Given the description of an element on the screen output the (x, y) to click on. 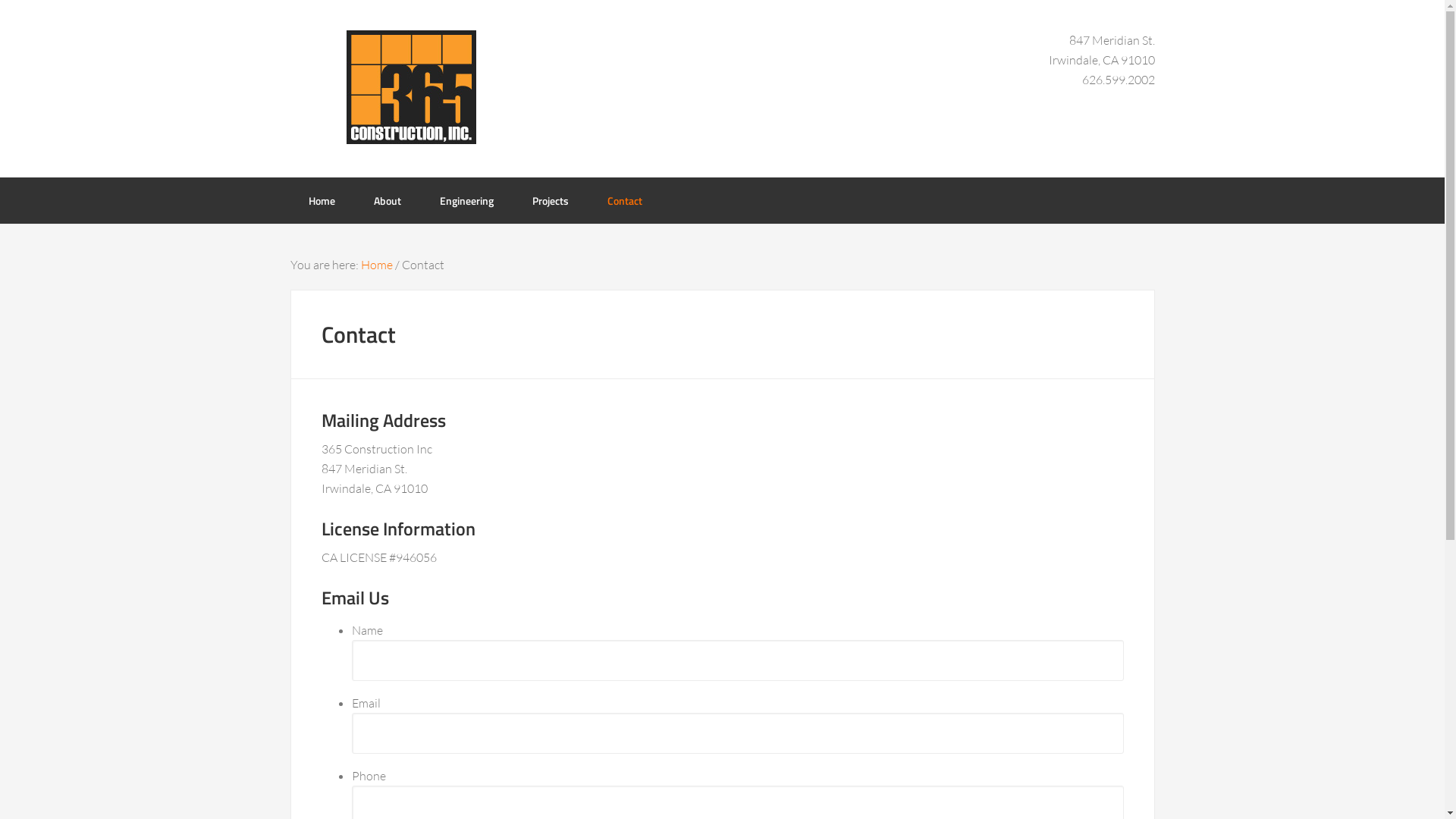
About Element type: text (386, 200)
Engineering Element type: text (466, 200)
Projects Element type: text (550, 200)
Home Element type: text (320, 200)
Contact Element type: text (623, 200)
365 Element type: text (410, 87)
Home Element type: text (376, 264)
